Given the description of an element on the screen output the (x, y) to click on. 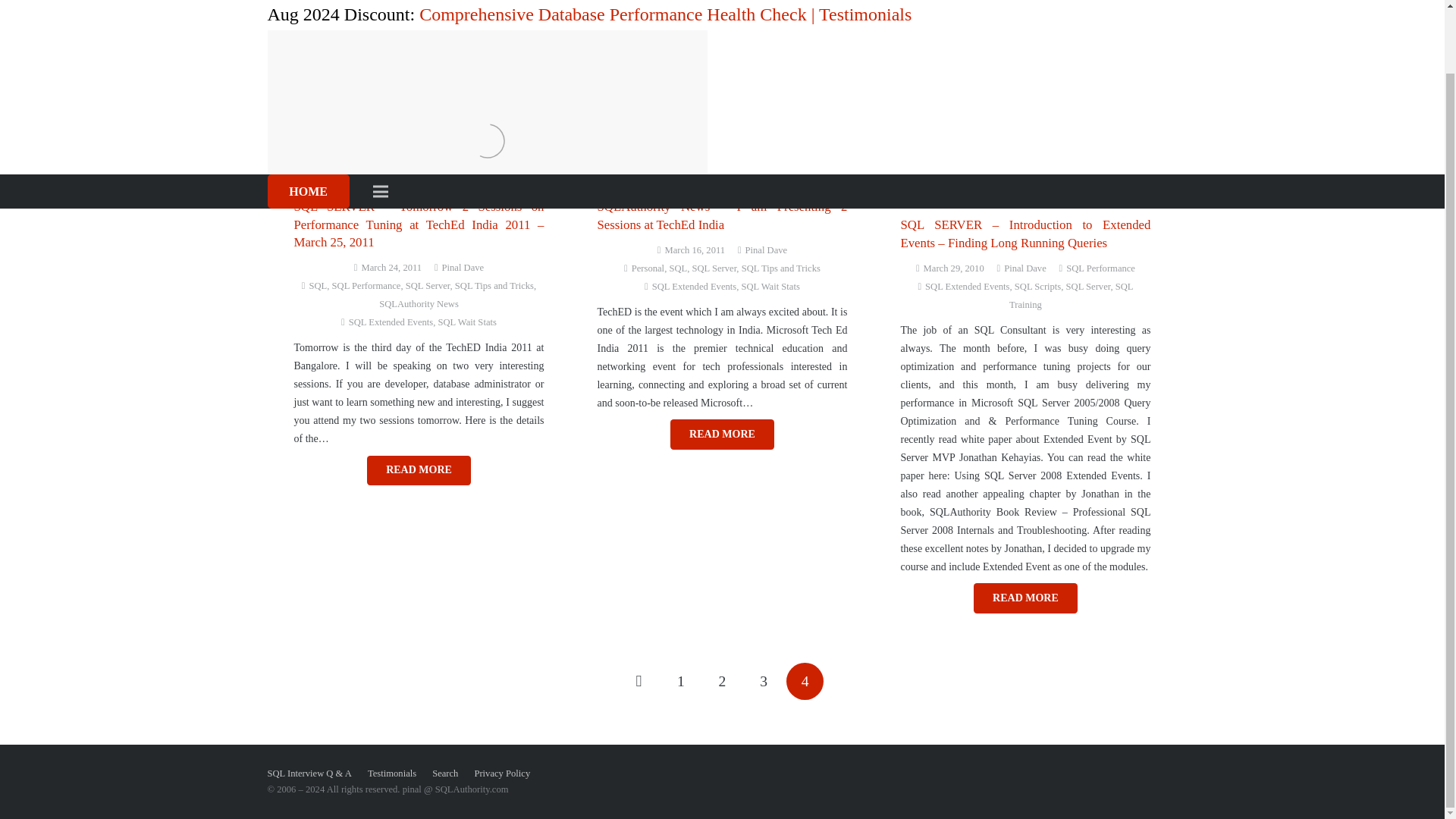
SQL Server (427, 285)
1 (680, 681)
SQL Wait Stats (770, 286)
READ MORE (721, 433)
SQL Extended Events (694, 286)
SQL Training (1071, 295)
SQL Server (1087, 286)
SQL Performance (366, 285)
Pinal Dave (1025, 268)
SQL Extended Events (966, 286)
